Given the description of an element on the screen output the (x, y) to click on. 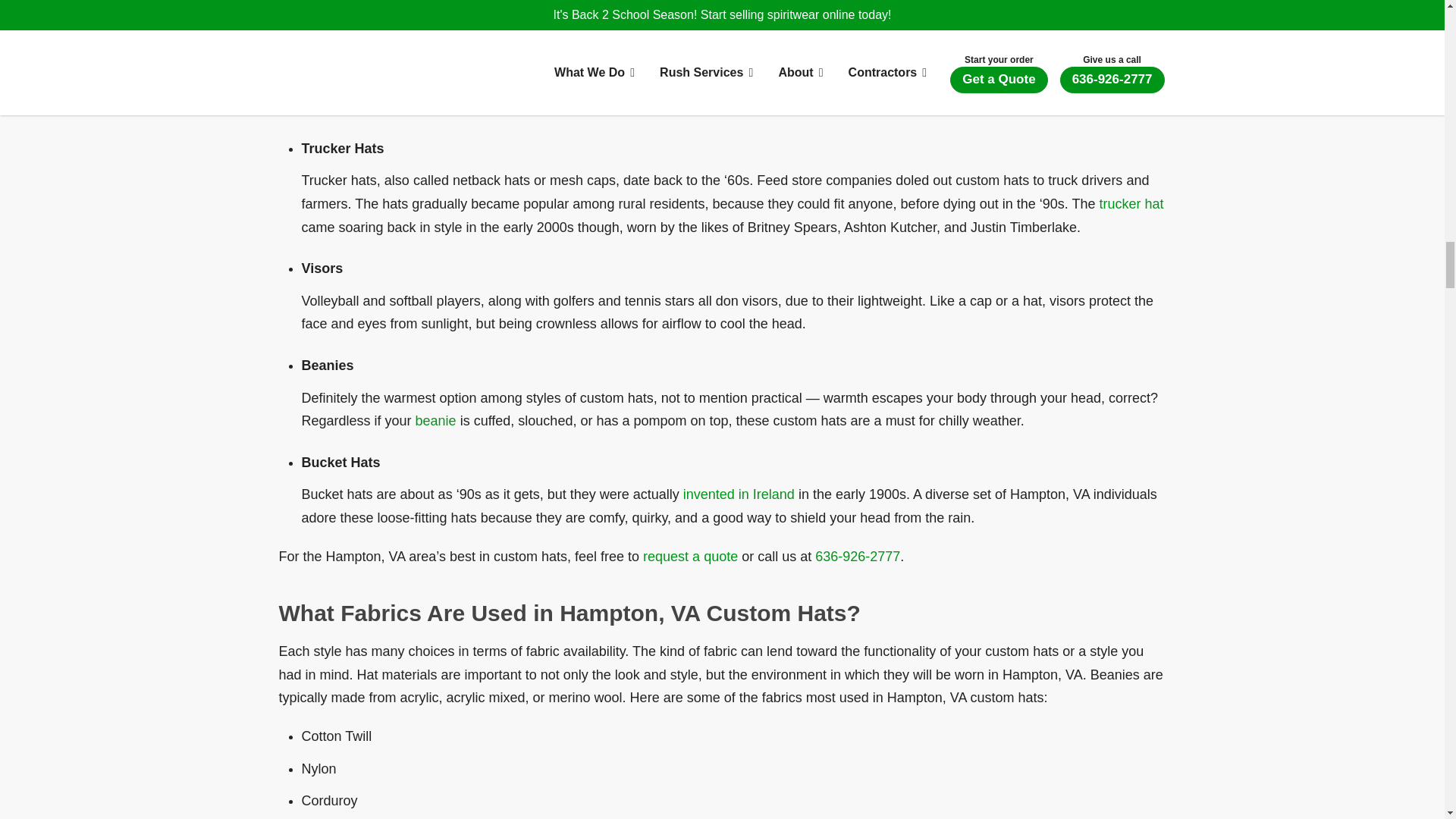
Custom Hats Hampton, VA - The Fashion Diary (738, 494)
Custom Hats Hampton, VA - Wikipedia (435, 420)
Custom Hats Hampton, VA - Rolling Stone (937, 83)
Custom Hats Hampton, VA - Wikipedia (1131, 203)
